Given the description of an element on the screen output the (x, y) to click on. 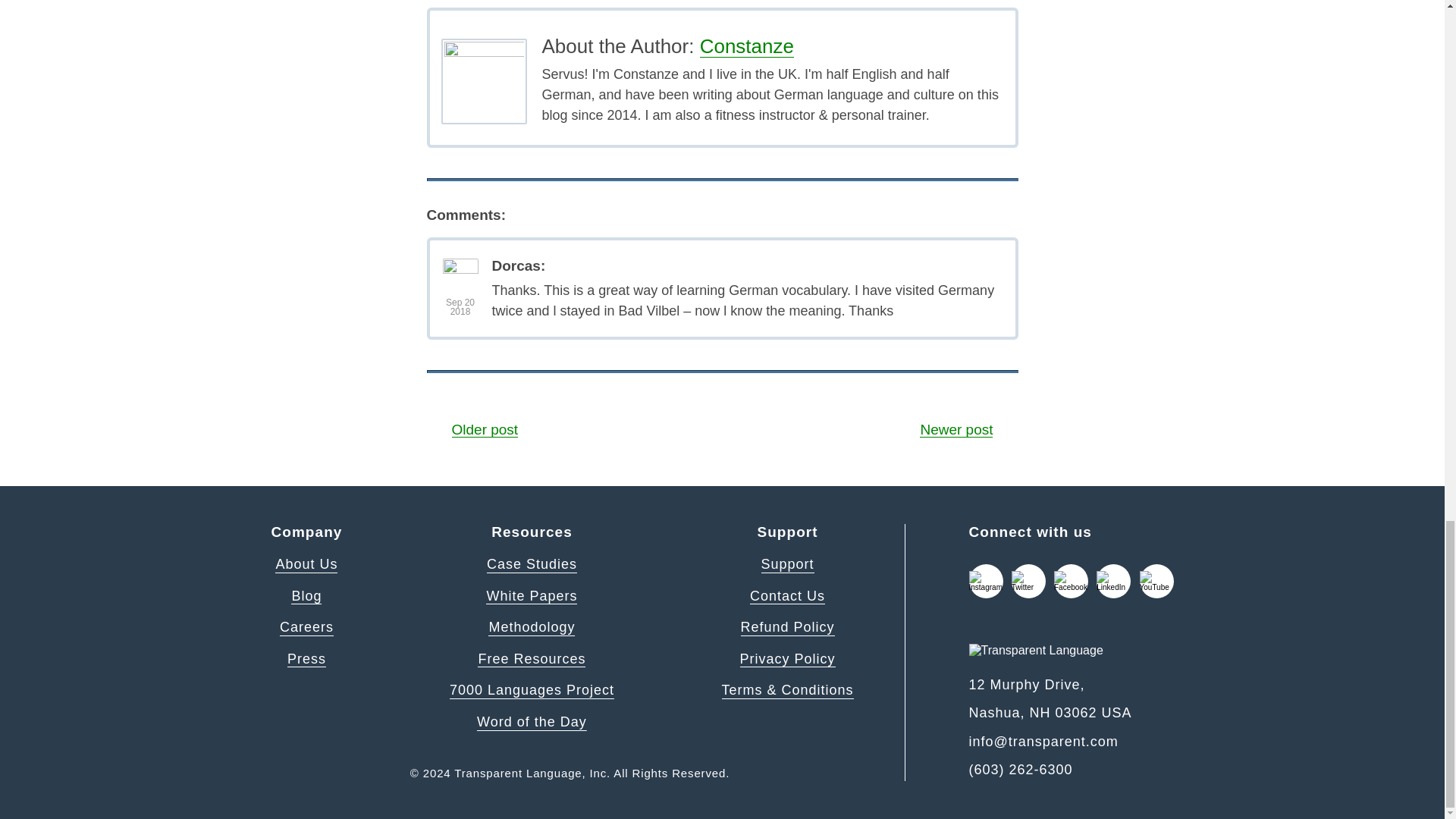
Instagram (986, 581)
Facebook (1070, 581)
LinkedIn (1113, 581)
Sep 19, 2018 (459, 306)
YouTube (1155, 581)
Twitter (1028, 581)
